Given the description of an element on the screen output the (x, y) to click on. 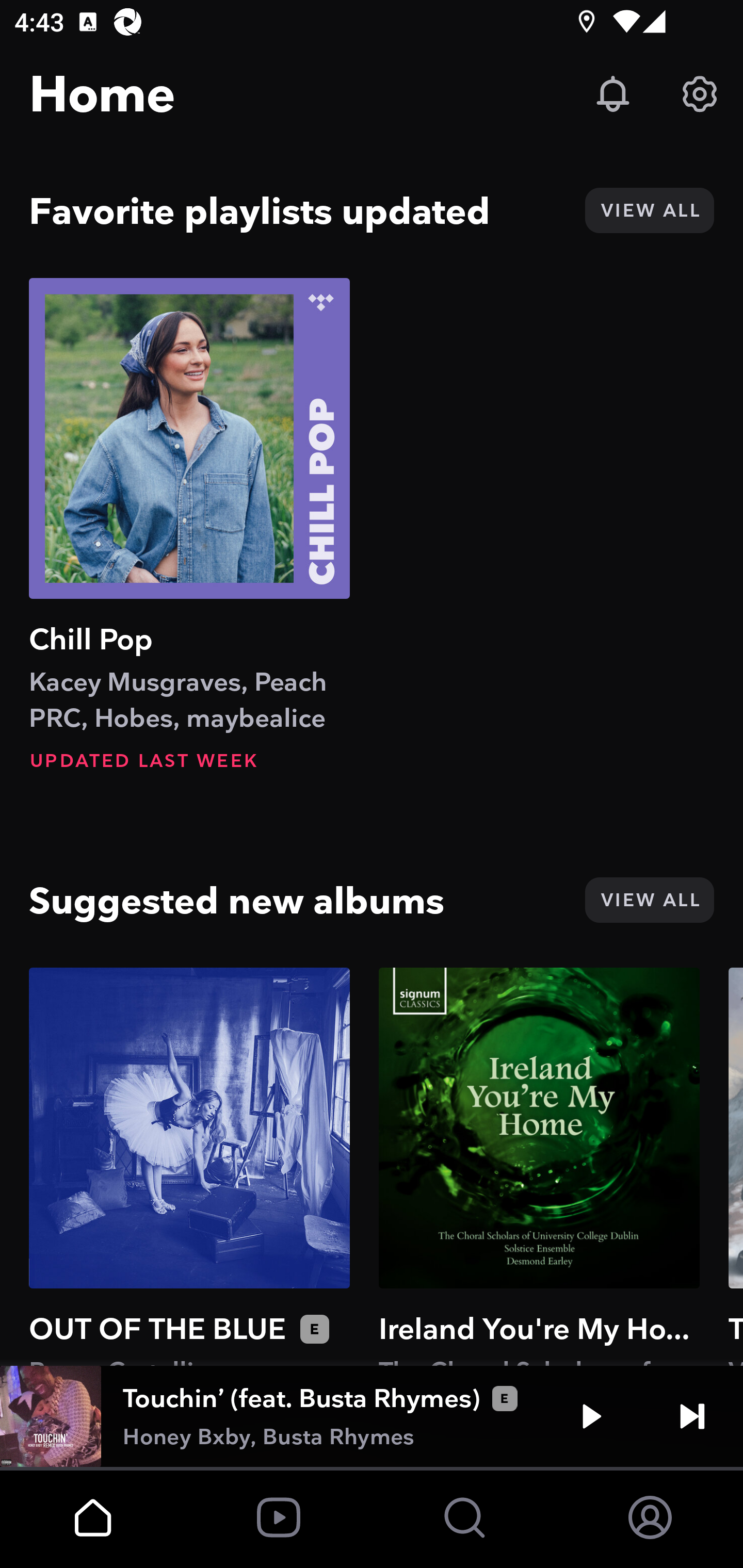
Updates (612, 93)
Settings (699, 93)
VIEW ALL (649, 210)
VIEW ALL (649, 899)
OUT OF THE BLUE Brynn Cartelli (188, 1166)
Play (590, 1416)
